Given the description of an element on the screen output the (x, y) to click on. 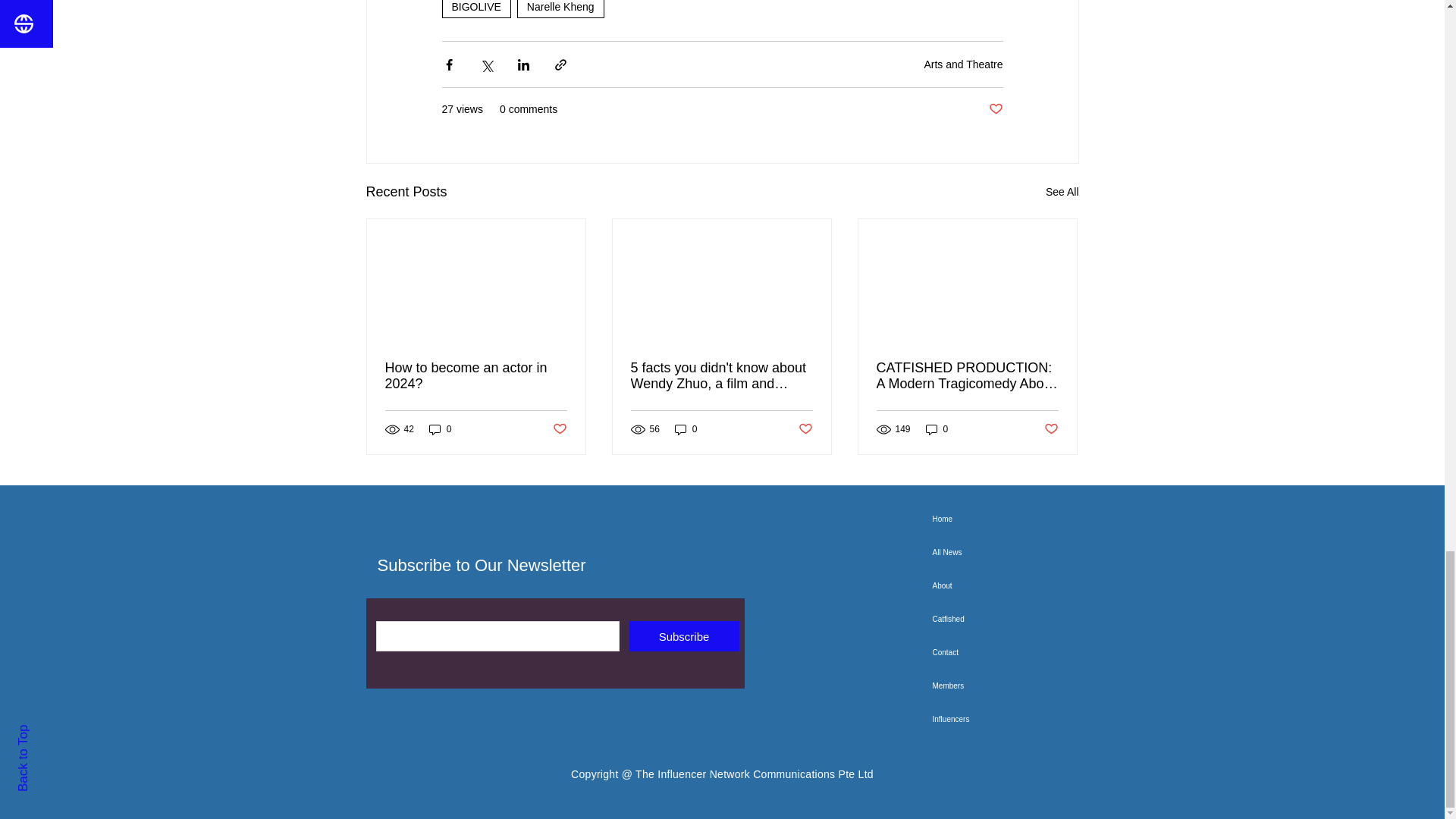
Narelle Kheng (560, 9)
BIGOLIVE (476, 9)
